Given the description of an element on the screen output the (x, y) to click on. 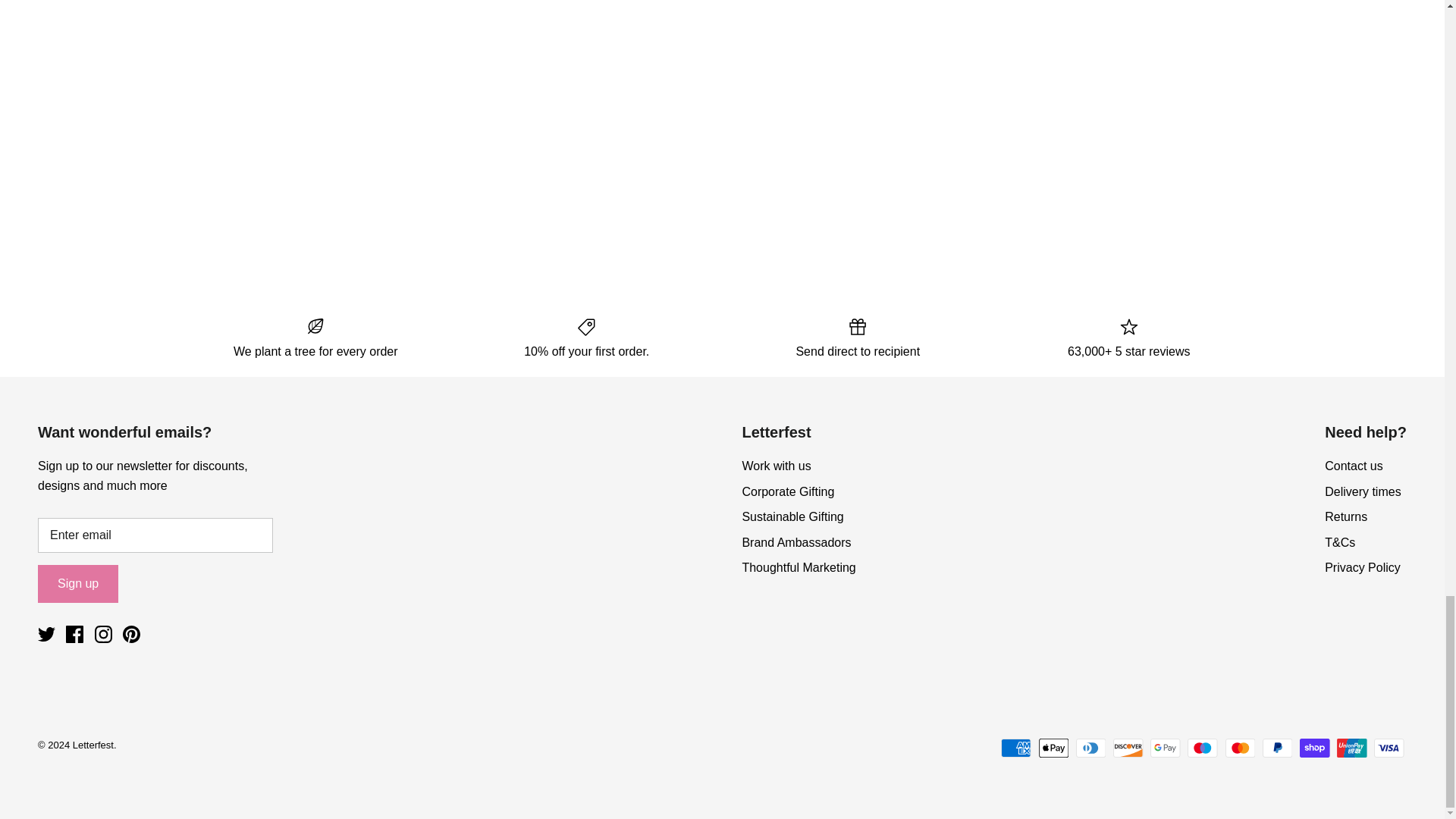
Instagram (103, 633)
American Express (1015, 747)
Twitter (46, 633)
Pinterest (130, 633)
Apple Pay (1053, 747)
Facebook (73, 633)
